Given the description of an element on the screen output the (x, y) to click on. 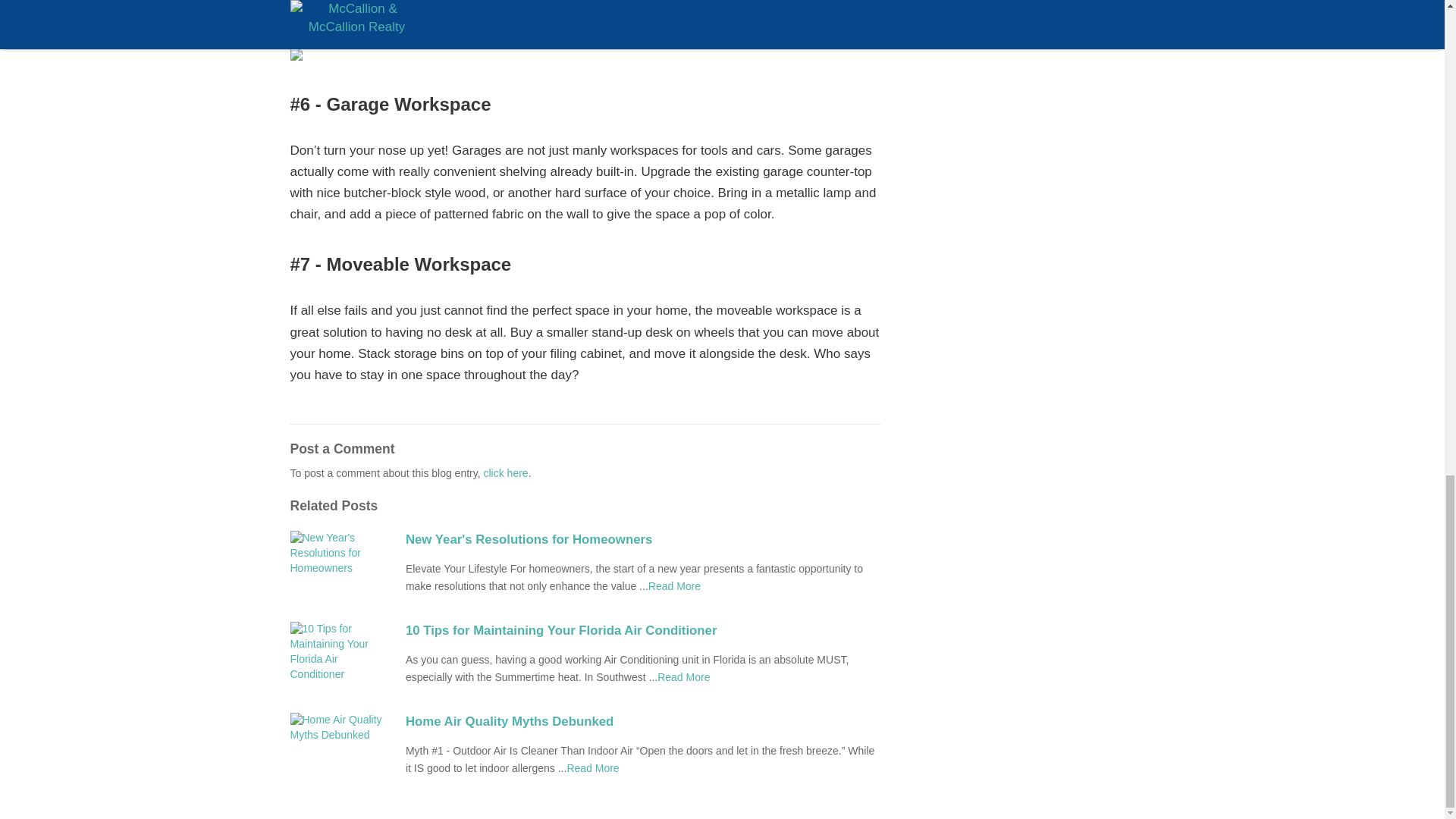
 7 Creative Home Office Transformations (673, 585)
 7 Creative Home Office Transformations (592, 767)
New Year's Resolutions for Homeowners (643, 539)
10 Tips for Maintaining Your Florida Air Conditioner  (643, 630)
Home Air Quality Myths Debunked (643, 721)
 7 Creative Home Office Transformations (684, 676)
